Given the description of an element on the screen output the (x, y) to click on. 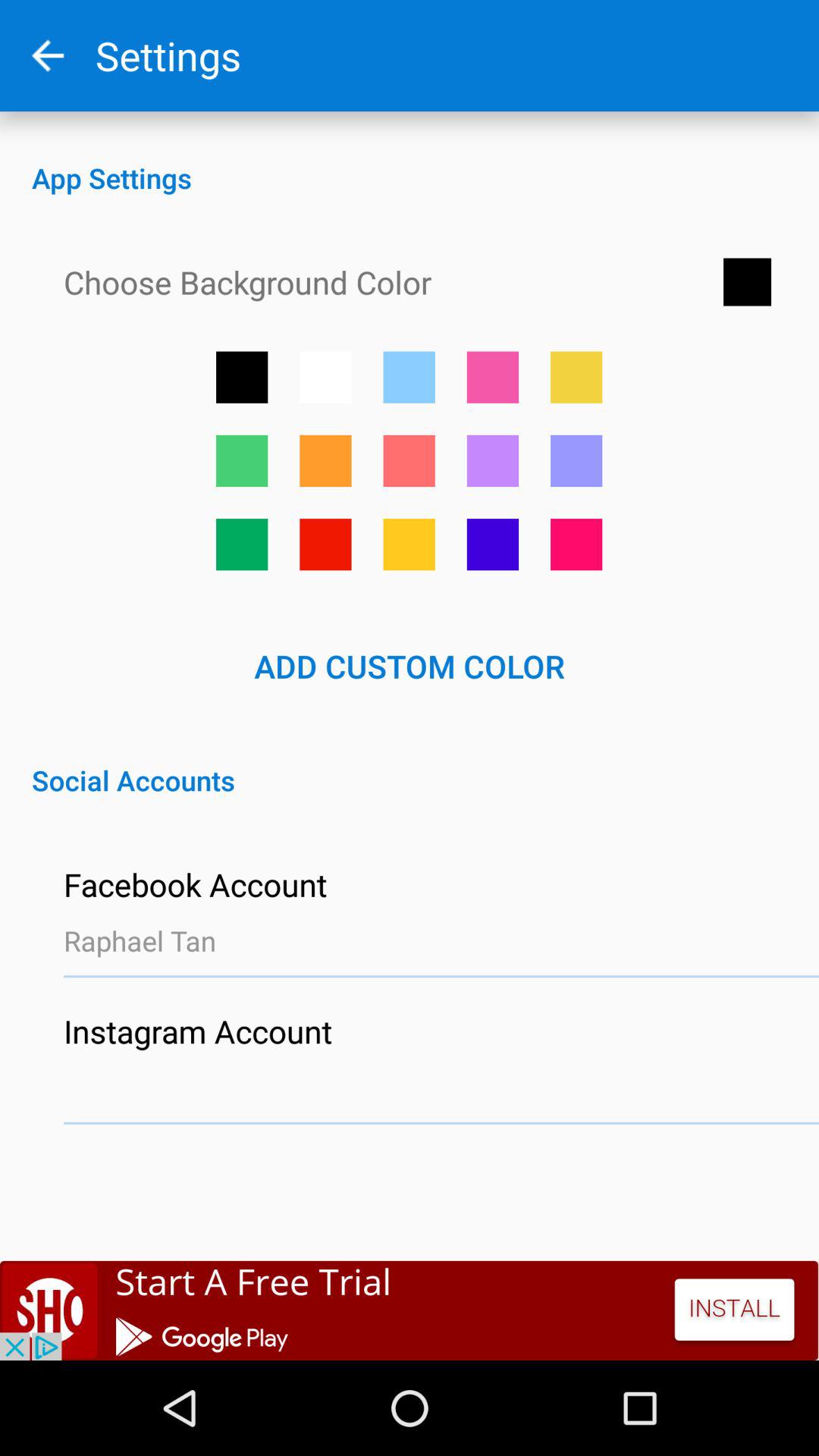
click button (492, 544)
